Given the description of an element on the screen output the (x, y) to click on. 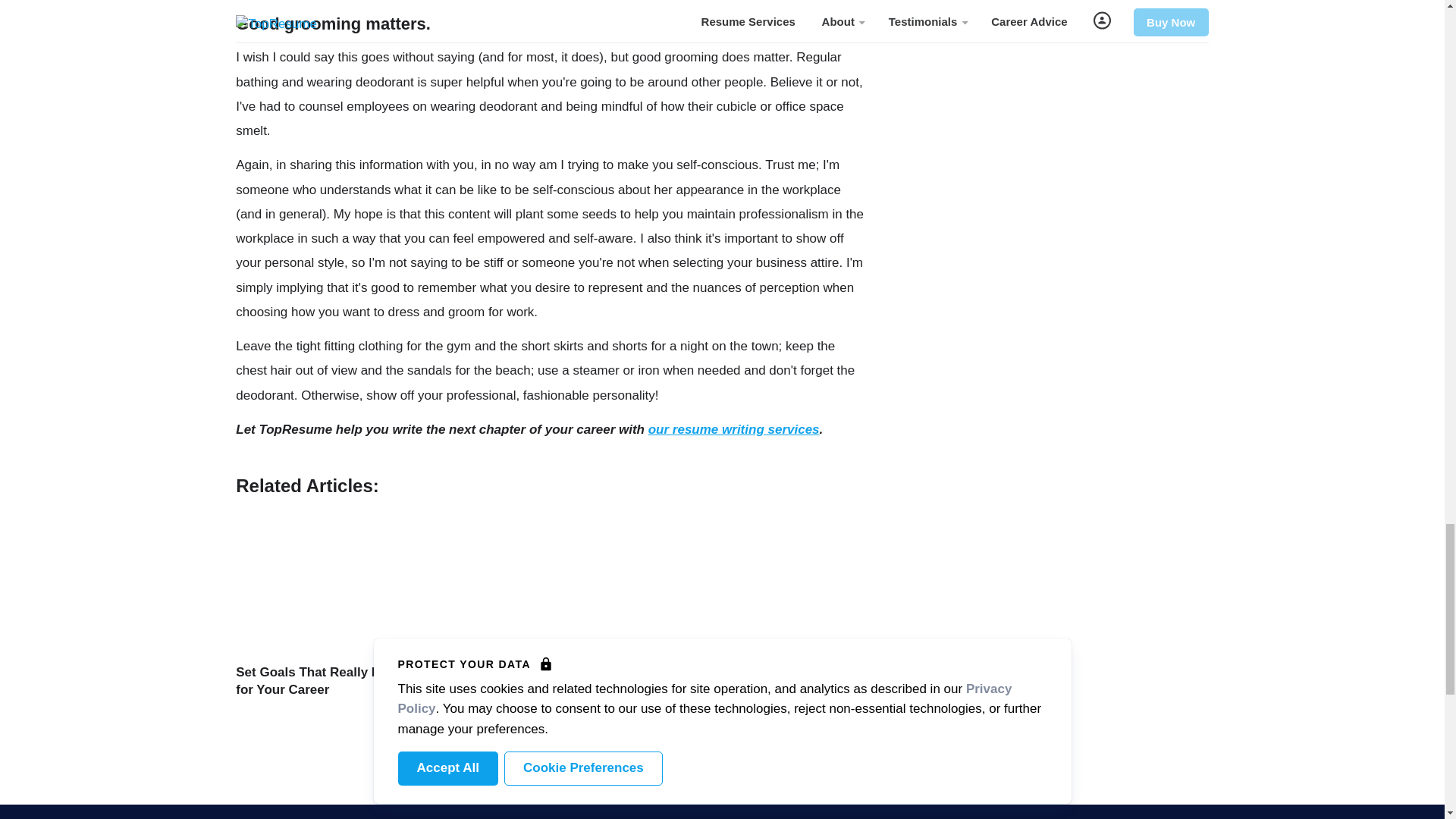
our resume writing services (733, 429)
Set Goals That Really Matter for Your Career (322, 681)
10 Back-to-School Resolutions for Your Career (542, 681)
